Given the description of an element on the screen output the (x, y) to click on. 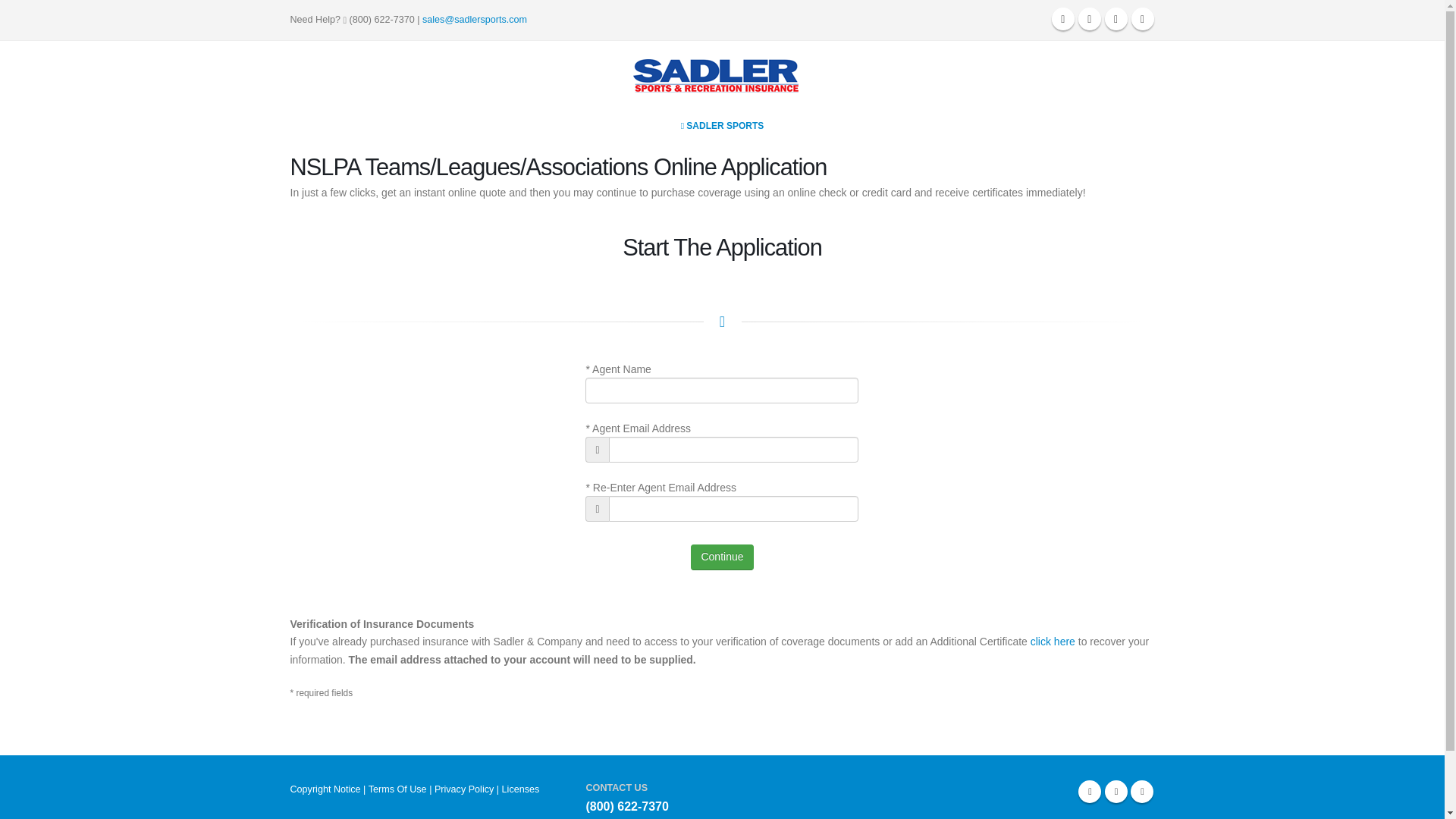
Linkedin (1115, 18)
Licenses (521, 788)
Continue (721, 557)
Continue (721, 557)
Copyright Notice (324, 788)
Linkedin (1142, 791)
SADLER SPORTS (722, 125)
Facebook (1089, 791)
Dashboard (1142, 18)
Privacy Policy (463, 788)
Twitter (1115, 791)
Twitter (1089, 18)
Facebook (1062, 18)
click here (1052, 641)
Terms Of Use (397, 788)
